Given the description of an element on the screen output the (x, y) to click on. 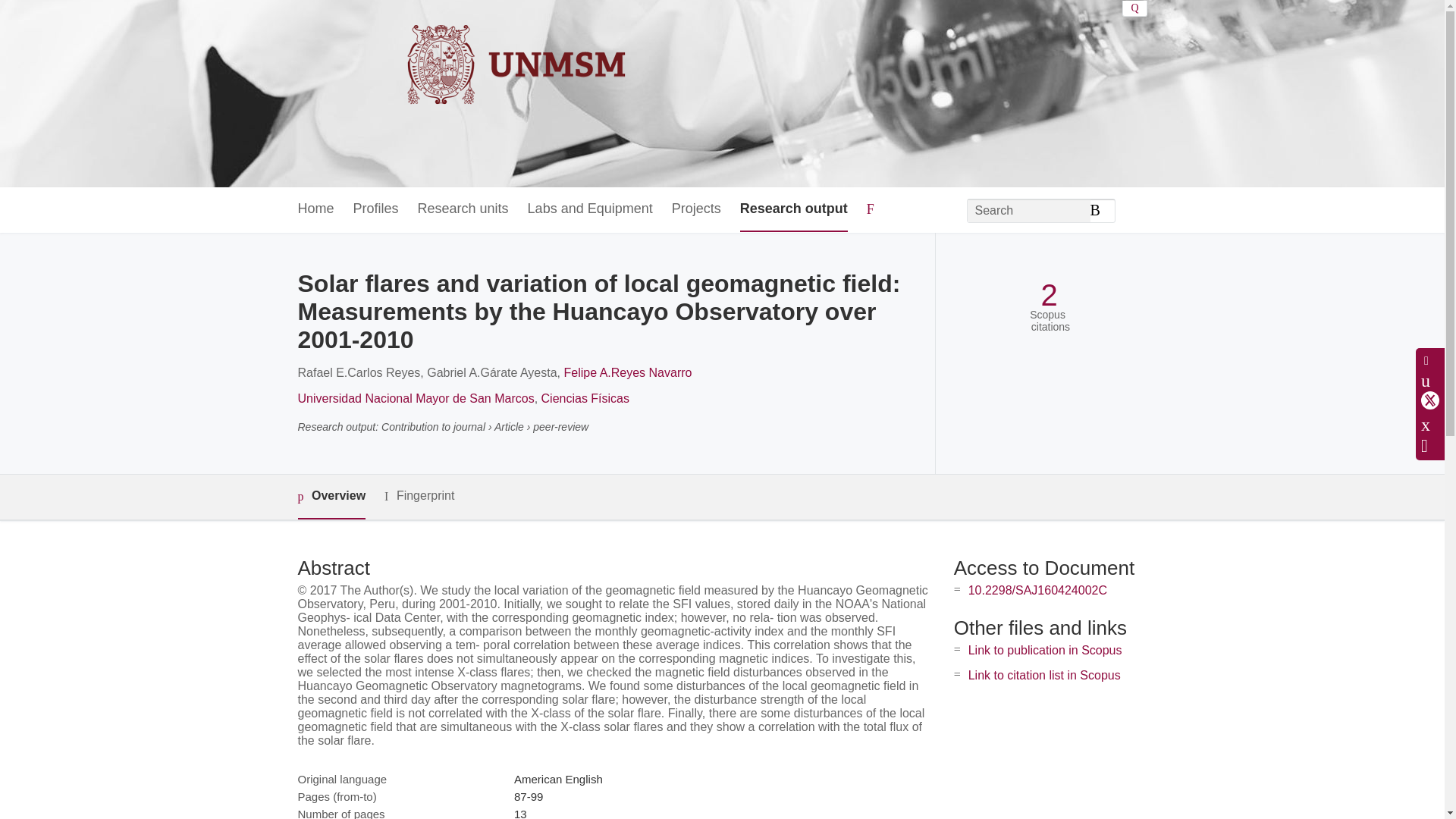
Felipe A.Reyes Navarro (627, 372)
Link to publication in Scopus (1045, 649)
Research output (793, 209)
Overview (331, 497)
Projects (695, 209)
Research units (462, 209)
Universidad Nacional Mayor de San Marcos Home (463, 93)
Fingerprint (419, 496)
Labs and Equipment (589, 209)
Link to citation list in Scopus (1044, 675)
Profiles (375, 209)
Universidad Nacional Mayor de San Marcos (415, 398)
